Given the description of an element on the screen output the (x, y) to click on. 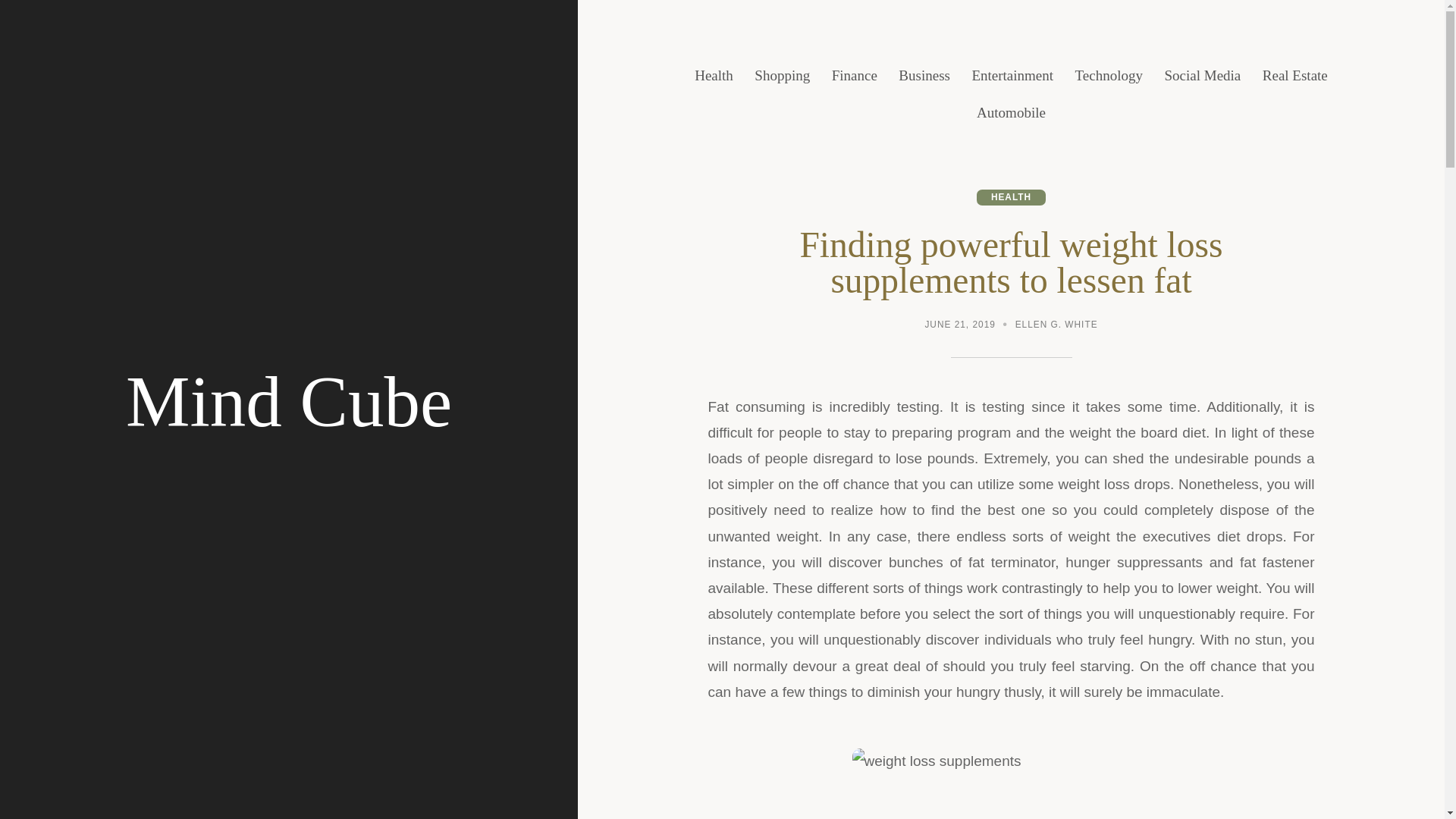
Automobile (1010, 113)
Technology (1108, 76)
JUNE 21, 2019 (959, 326)
Real Estate (1294, 76)
Finance (854, 76)
Shopping (781, 76)
ELLEN G. WHITE (1055, 326)
Social Media (1202, 76)
HEALTH (1010, 197)
Entertainment (1011, 76)
